Given the description of an element on the screen output the (x, y) to click on. 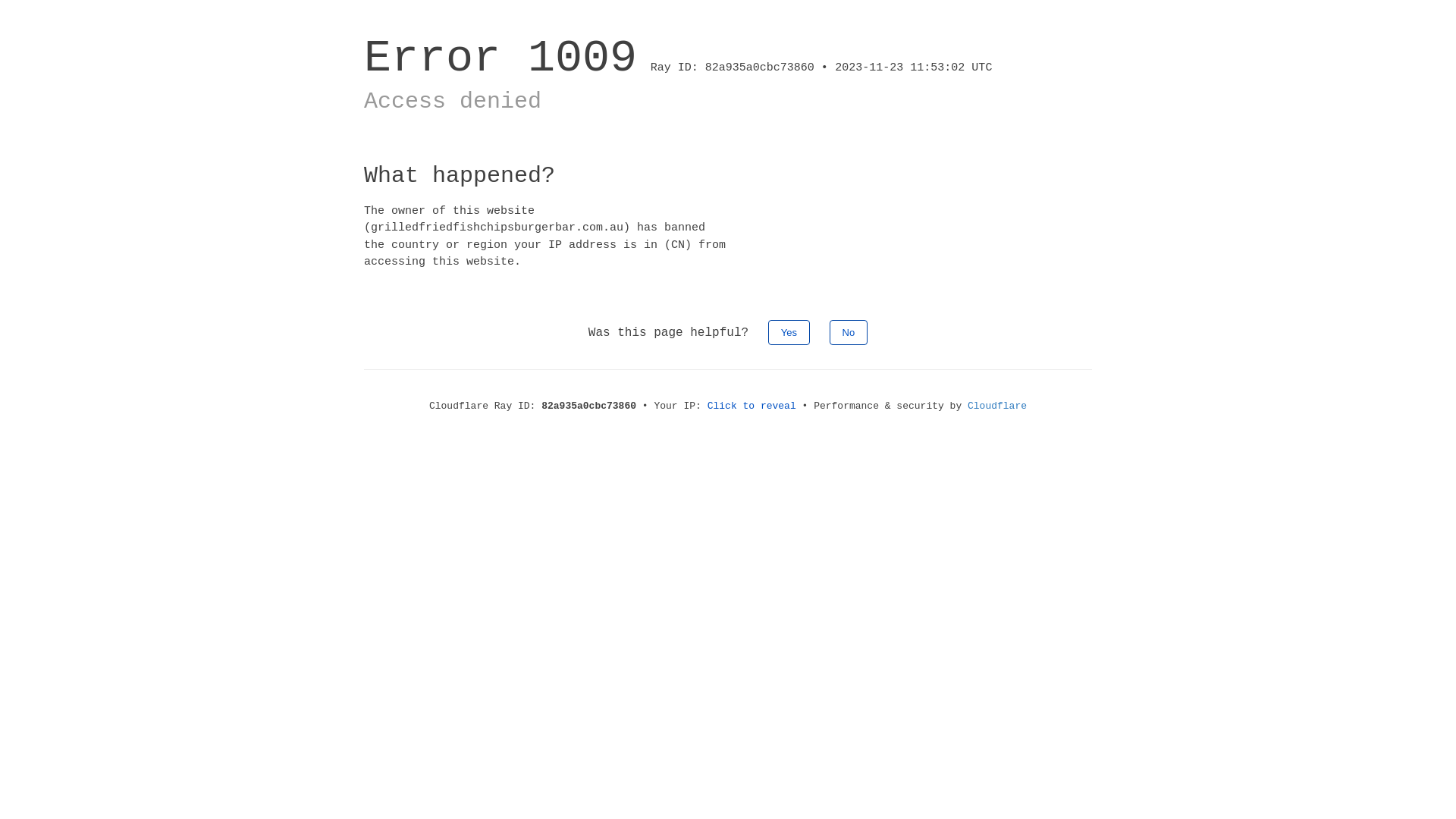
No Element type: text (848, 332)
Click to reveal Element type: text (751, 405)
Yes Element type: text (788, 332)
Cloudflare Element type: text (996, 405)
